Given the description of an element on the screen output the (x, y) to click on. 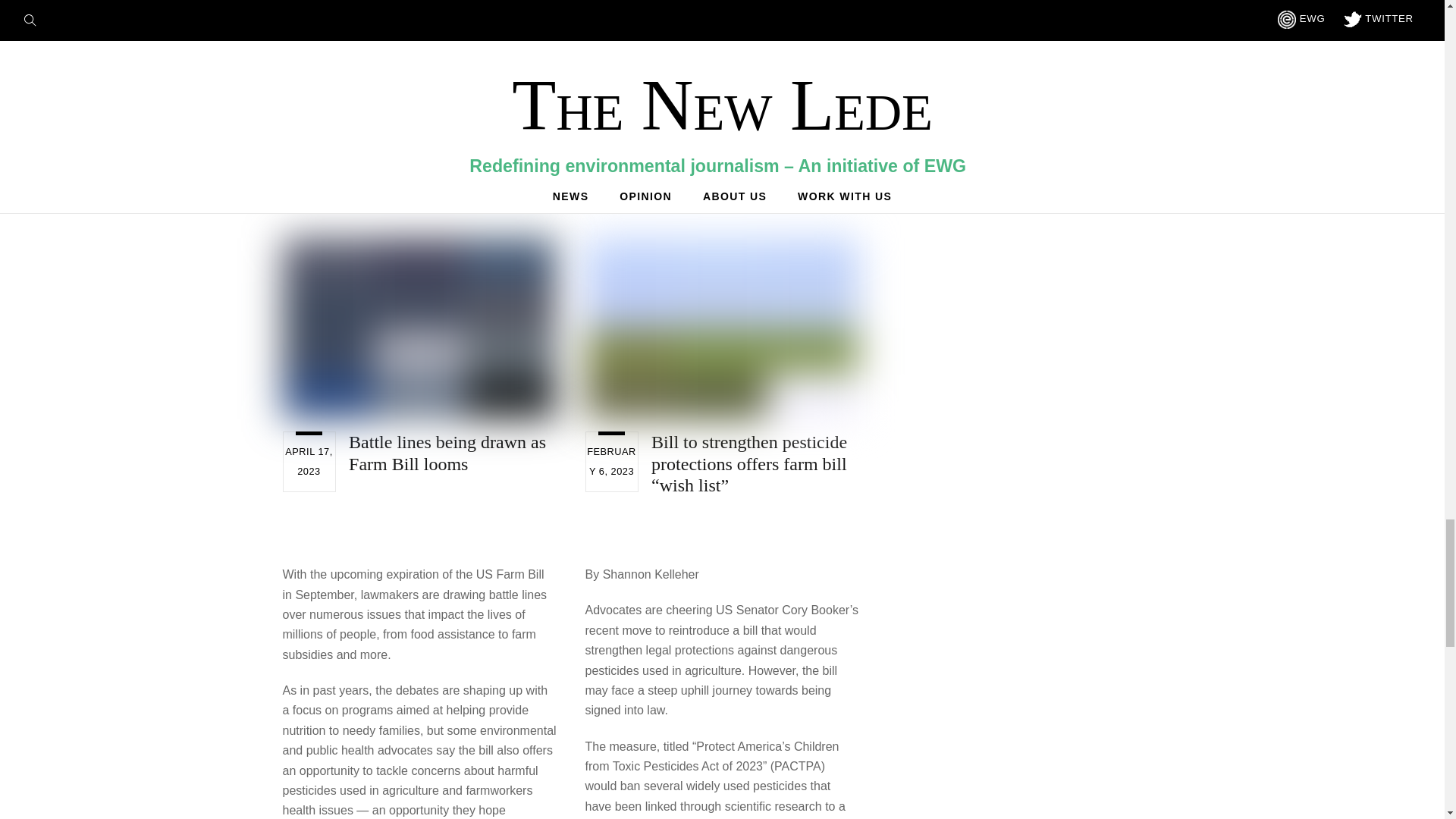
More (304, 187)
pexels-tom-fisk-1595108 (419, 328)
More (909, 127)
MICOP 2 (722, 328)
Battle lines being drawn as Farm Bill looms (447, 453)
